Given the description of an element on the screen output the (x, y) to click on. 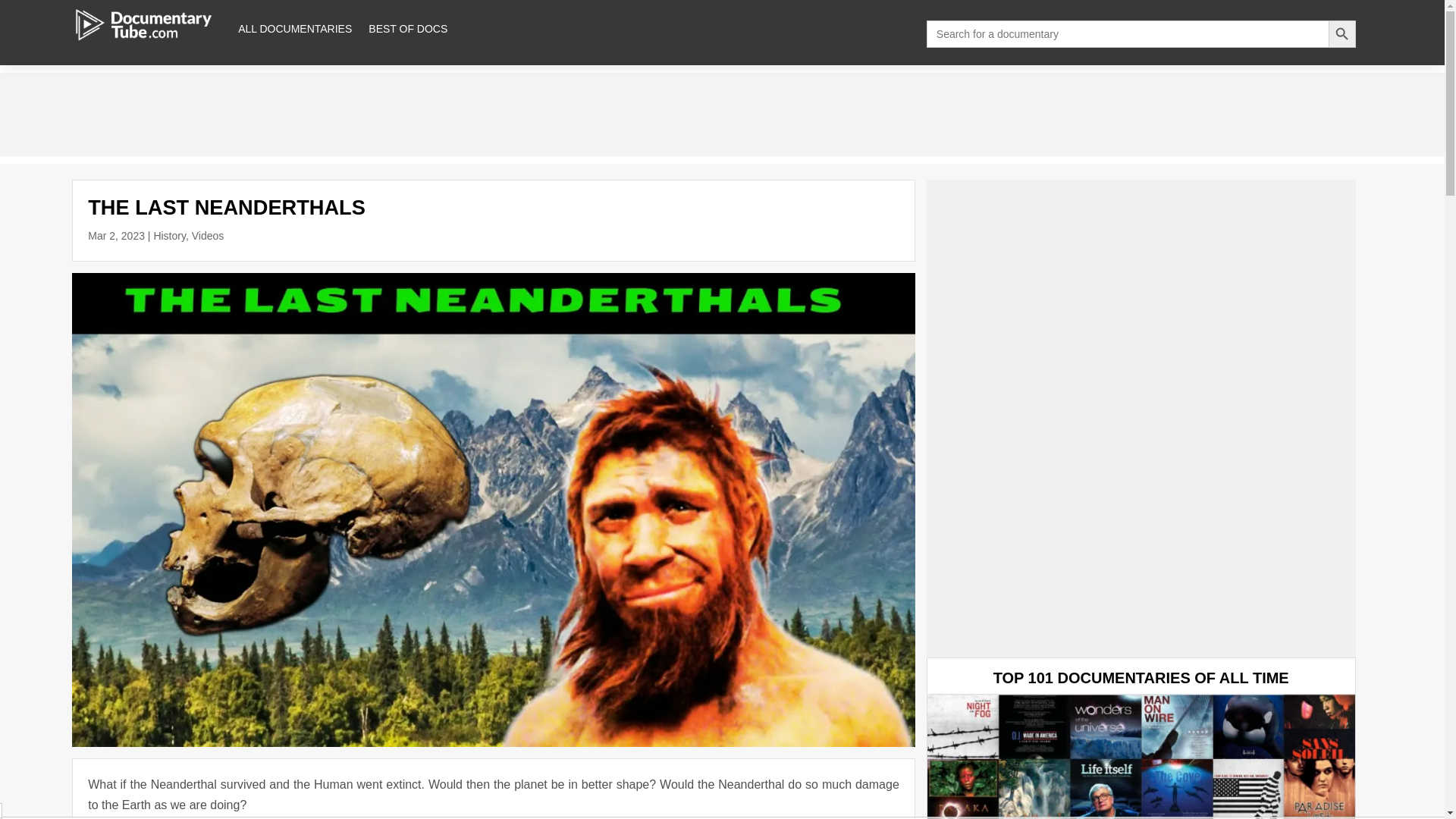
Videos (208, 235)
TOP 101 DOCUMENTARIES OF ALL TIME (1140, 677)
ALL DOCUMENTARIES (295, 28)
History (169, 235)
BEST OF DOCS (407, 28)
Search Button (1341, 33)
